Given the description of an element on the screen output the (x, y) to click on. 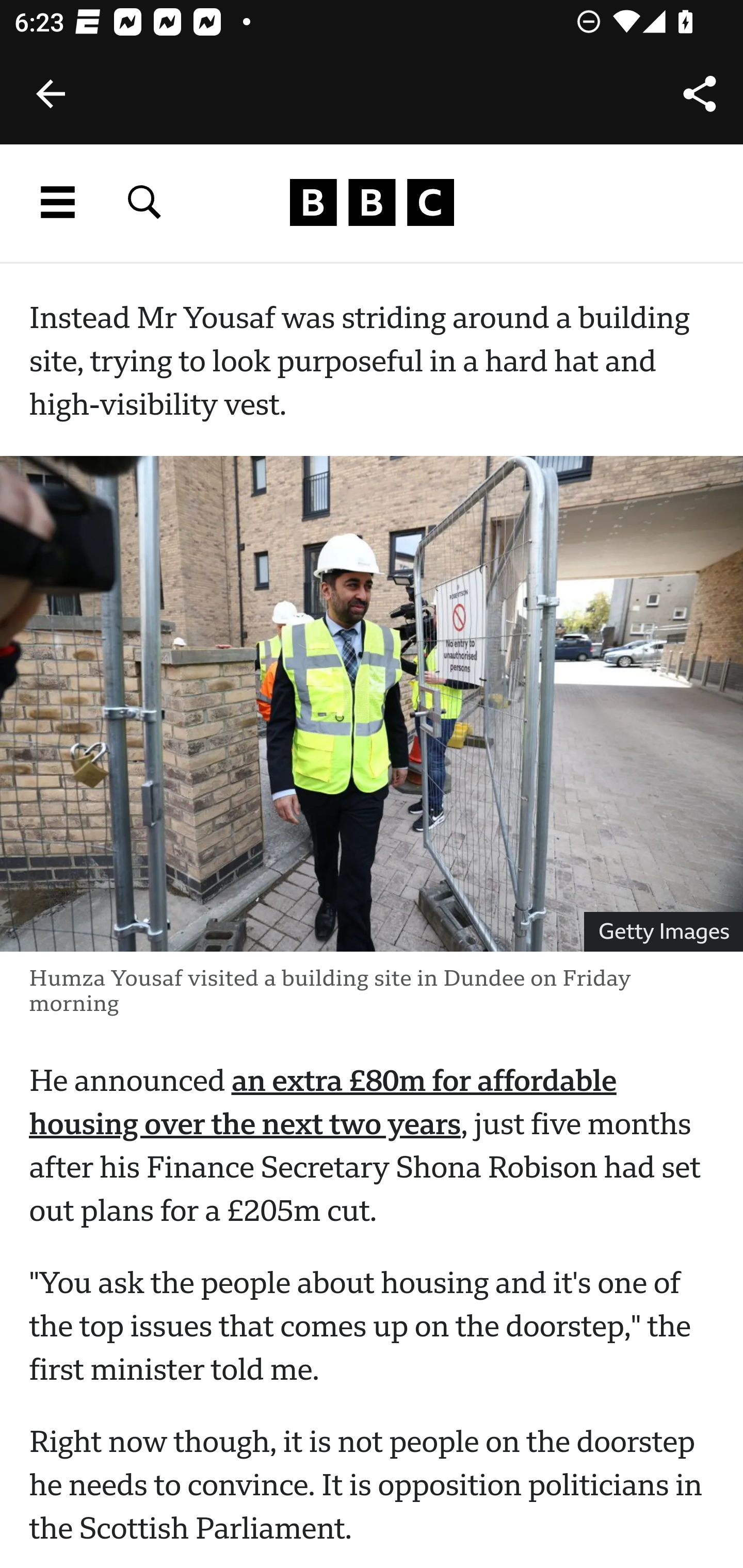
Back (50, 93)
Share (699, 93)
www.bbc (371, 203)
